Given the description of an element on the screen output the (x, y) to click on. 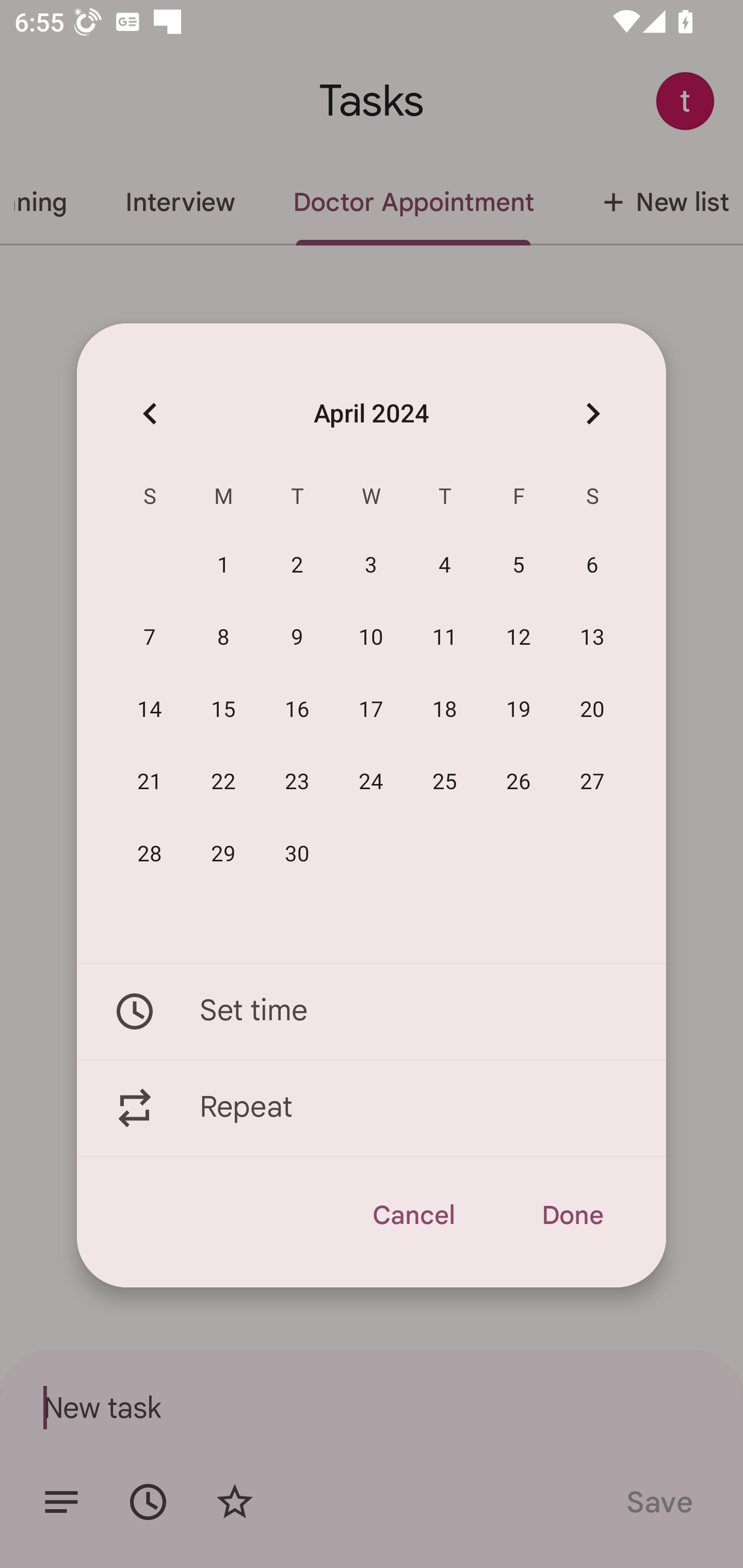
Previous month (149, 413)
Next month (592, 413)
1 01 April 2024 (223, 565)
2 02 April 2024 (297, 565)
3 03 April 2024 (370, 565)
4 04 April 2024 (444, 565)
5 05 April 2024 (518, 565)
6 06 April 2024 (592, 565)
7 07 April 2024 (149, 638)
8 08 April 2024 (223, 638)
9 09 April 2024 (297, 638)
10 10 April 2024 (370, 638)
11 11 April 2024 (444, 638)
12 12 April 2024 (518, 638)
13 13 April 2024 (592, 638)
14 14 April 2024 (149, 710)
15 15 April 2024 (223, 710)
16 16 April 2024 (297, 710)
17 17 April 2024 (370, 710)
18 18 April 2024 (444, 710)
19 19 April 2024 (518, 710)
20 20 April 2024 (592, 710)
21 21 April 2024 (149, 782)
22 22 April 2024 (223, 782)
23 23 April 2024 (297, 782)
24 24 April 2024 (370, 782)
25 25 April 2024 (444, 782)
26 26 April 2024 (518, 782)
27 27 April 2024 (592, 782)
28 28 April 2024 (149, 854)
29 29 April 2024 (223, 854)
30 30 April 2024 (297, 854)
Set time (371, 1011)
Repeat (371, 1108)
Cancel (412, 1215)
Done (571, 1215)
